Given the description of an element on the screen output the (x, y) to click on. 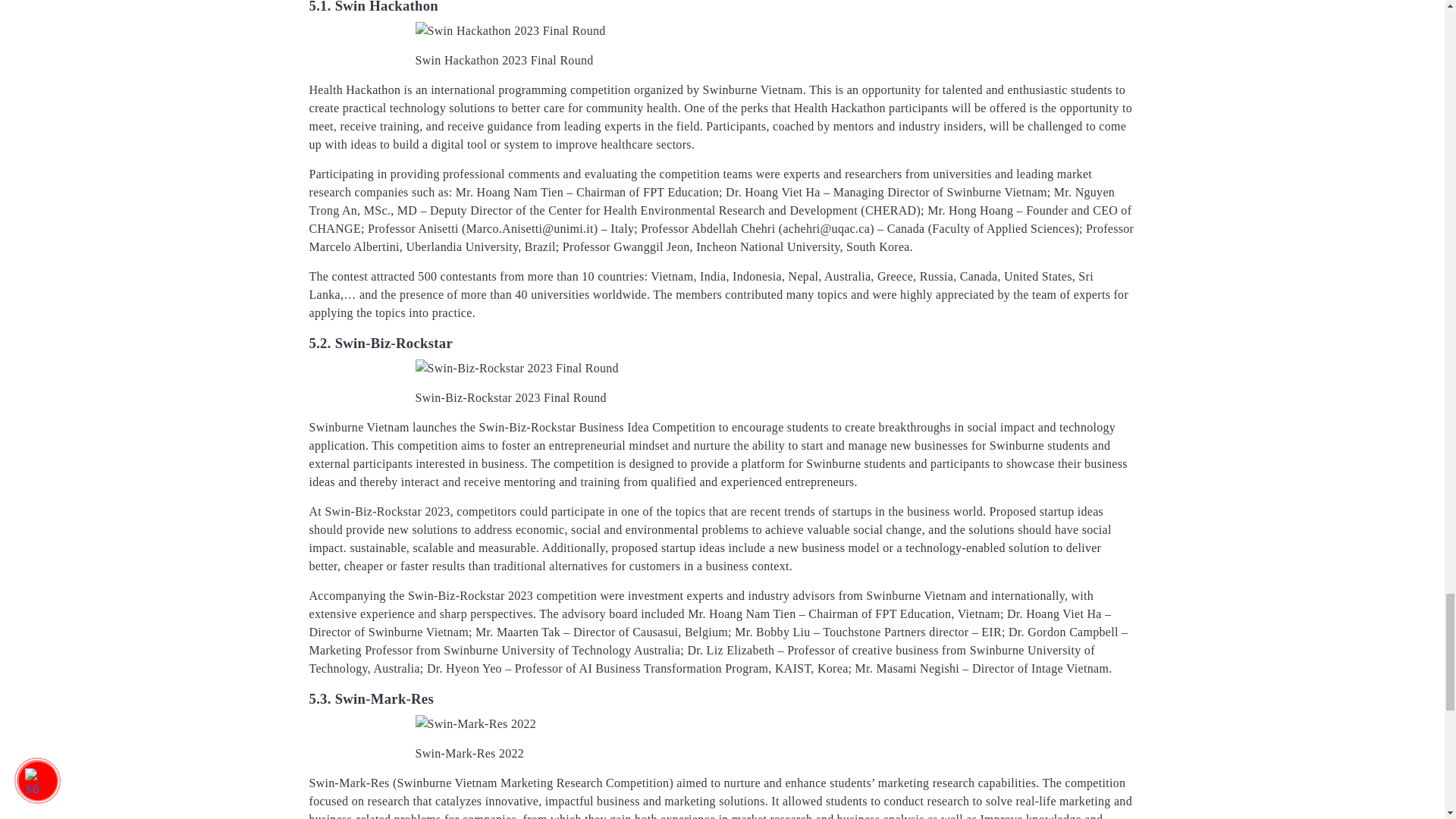
7 (509, 31)
9 (475, 723)
8 (516, 368)
